Given the description of an element on the screen output the (x, y) to click on. 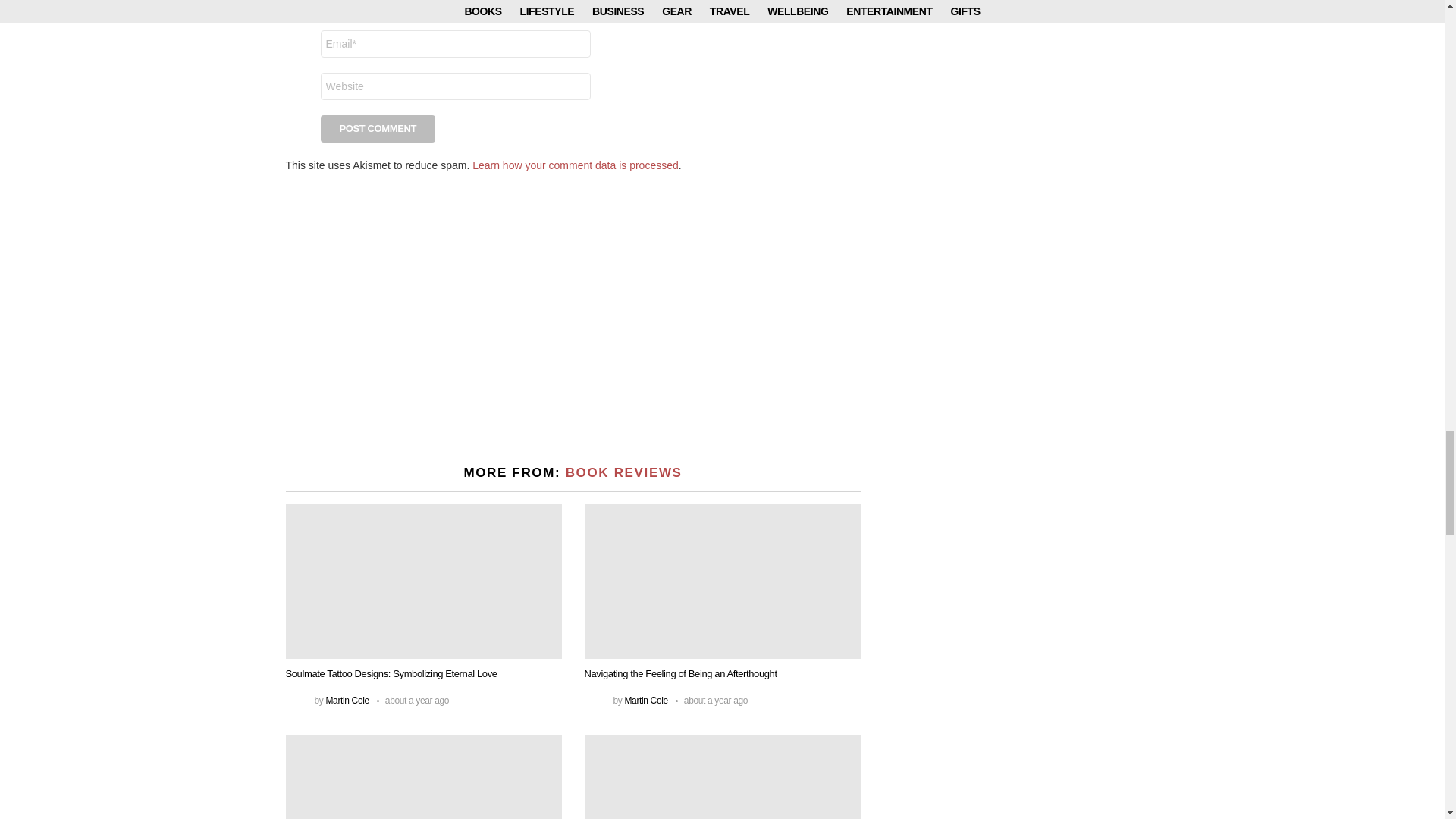
Posts by Martin Cole (645, 700)
Posts by Martin Cole (346, 700)
Post Comment (377, 128)
Navigating the Feeling of Being an Afterthought (721, 581)
July 20, 2023, 2:49 am (412, 700)
Soulmate Tattoo Designs: Symbolizing Eternal Love (422, 581)
What Are Some of the Most Rarest Books of All Time? (422, 776)
July 15, 2023, 1:44 am (711, 700)
